Given the description of an element on the screen output the (x, y) to click on. 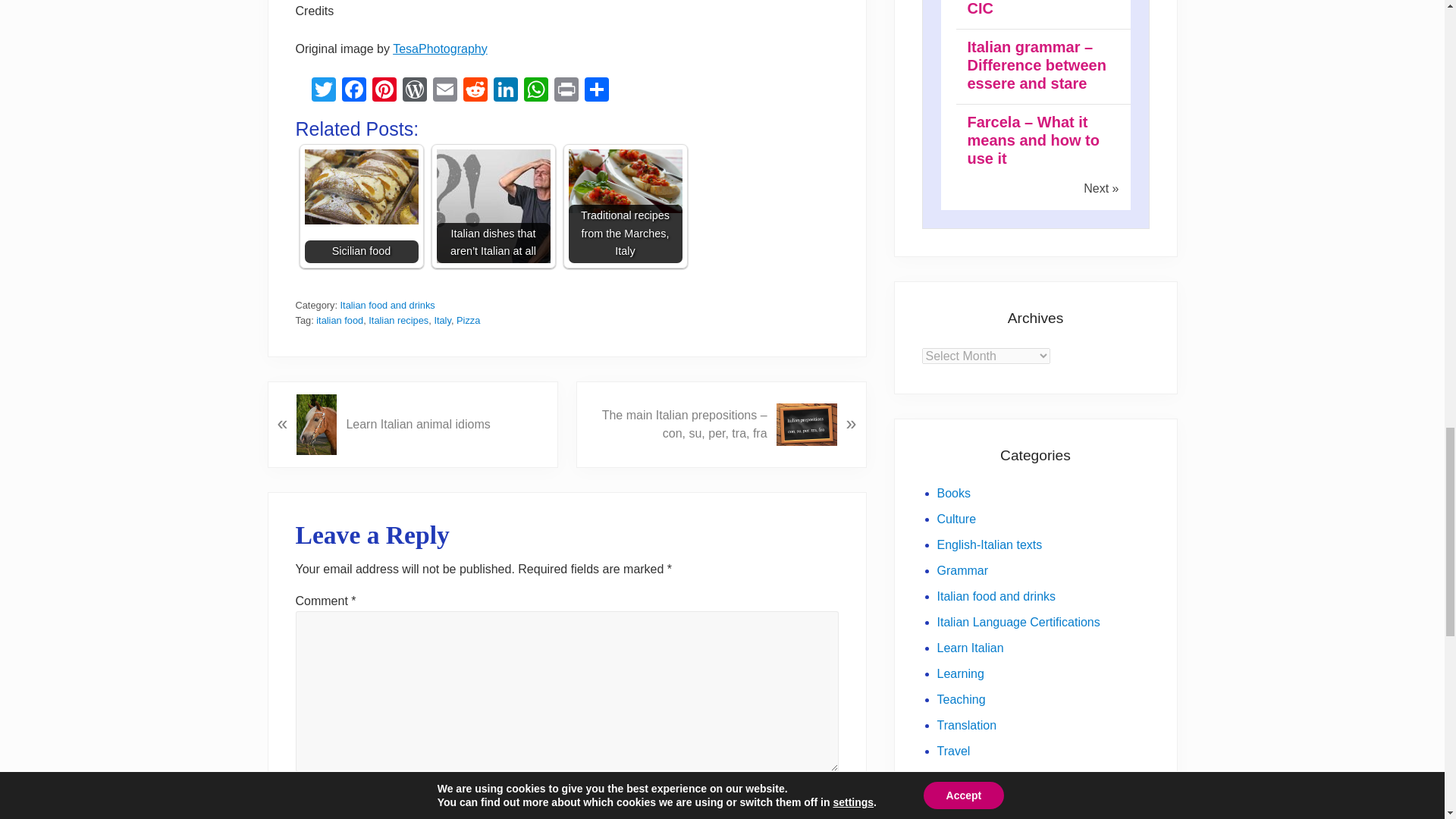
Sicilian food (361, 187)
Twitter (322, 90)
Print (565, 90)
Facebook (352, 90)
Pinterest (383, 90)
LinkedIn (504, 90)
Email (444, 90)
WhatsApp (534, 90)
Traditional recipes from the Marches, Italy (625, 180)
WordPress (413, 90)
